Given the description of an element on the screen output the (x, y) to click on. 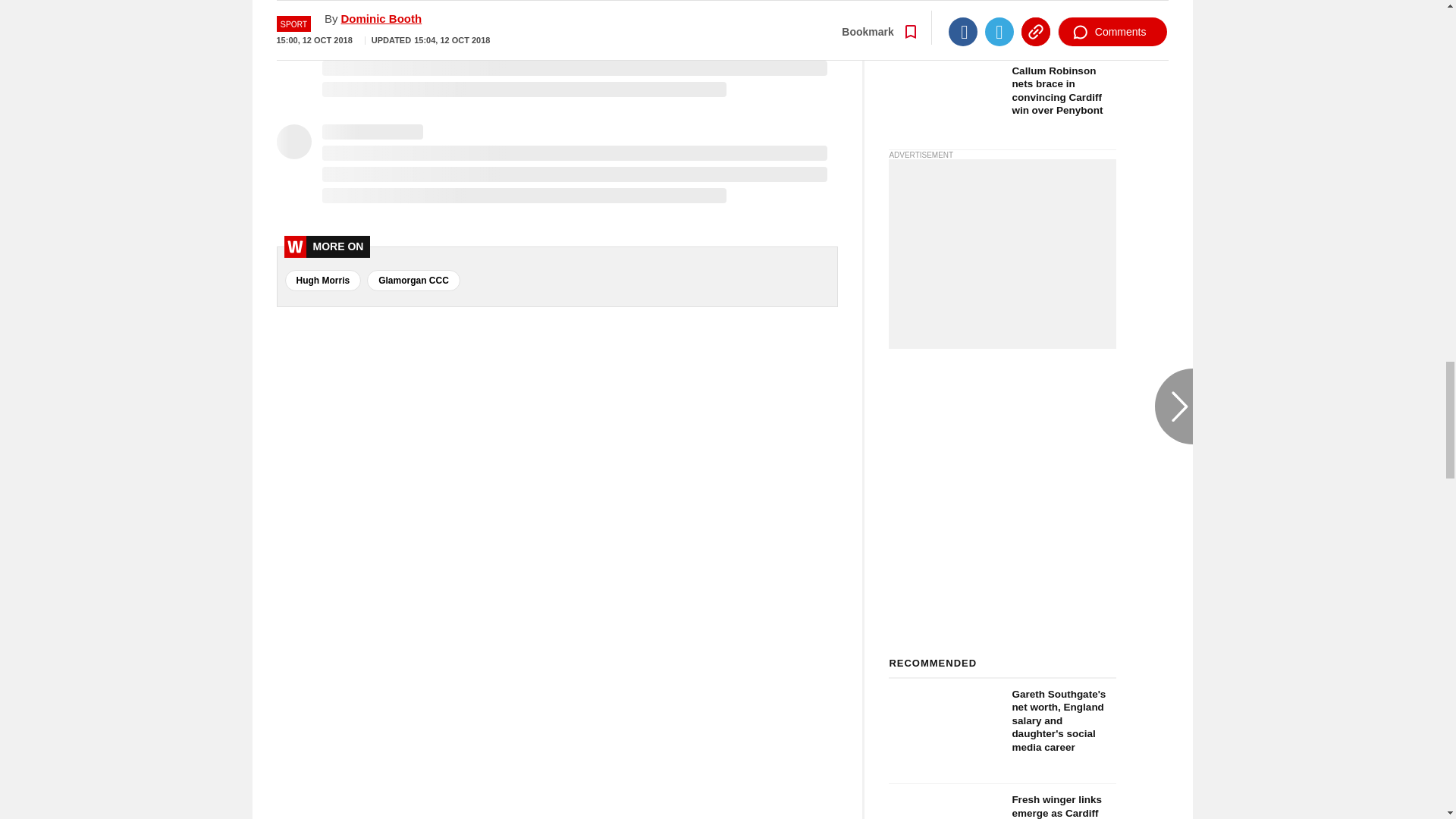
3rd party ad content (1002, 253)
